Given the description of an element on the screen output the (x, y) to click on. 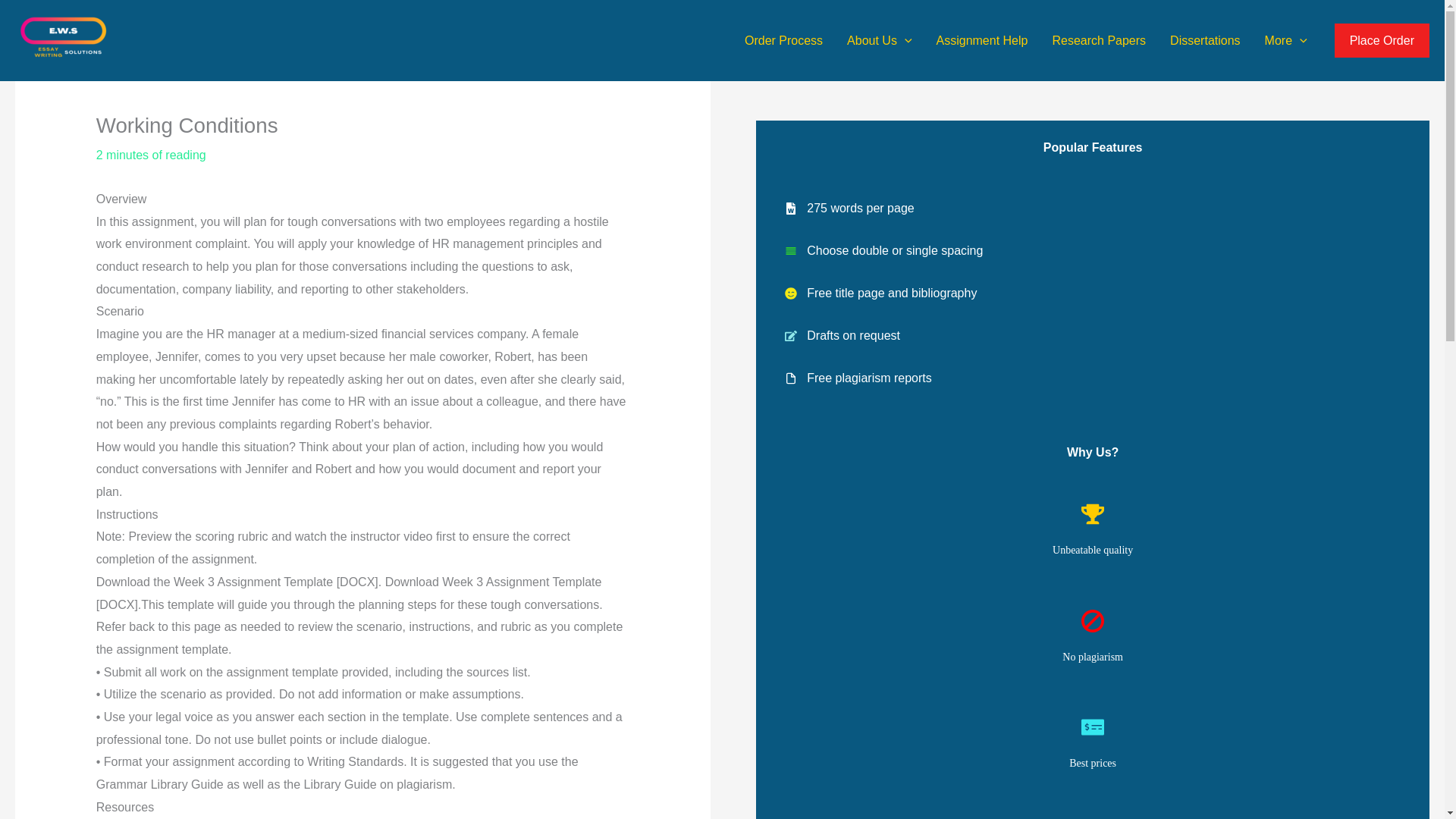
Assignment Help (982, 39)
About Us (878, 39)
Research Papers (1098, 39)
Place Order (1382, 40)
Dissertations (1204, 39)
More (1285, 39)
Order Process (783, 39)
